Given the description of an element on the screen output the (x, y) to click on. 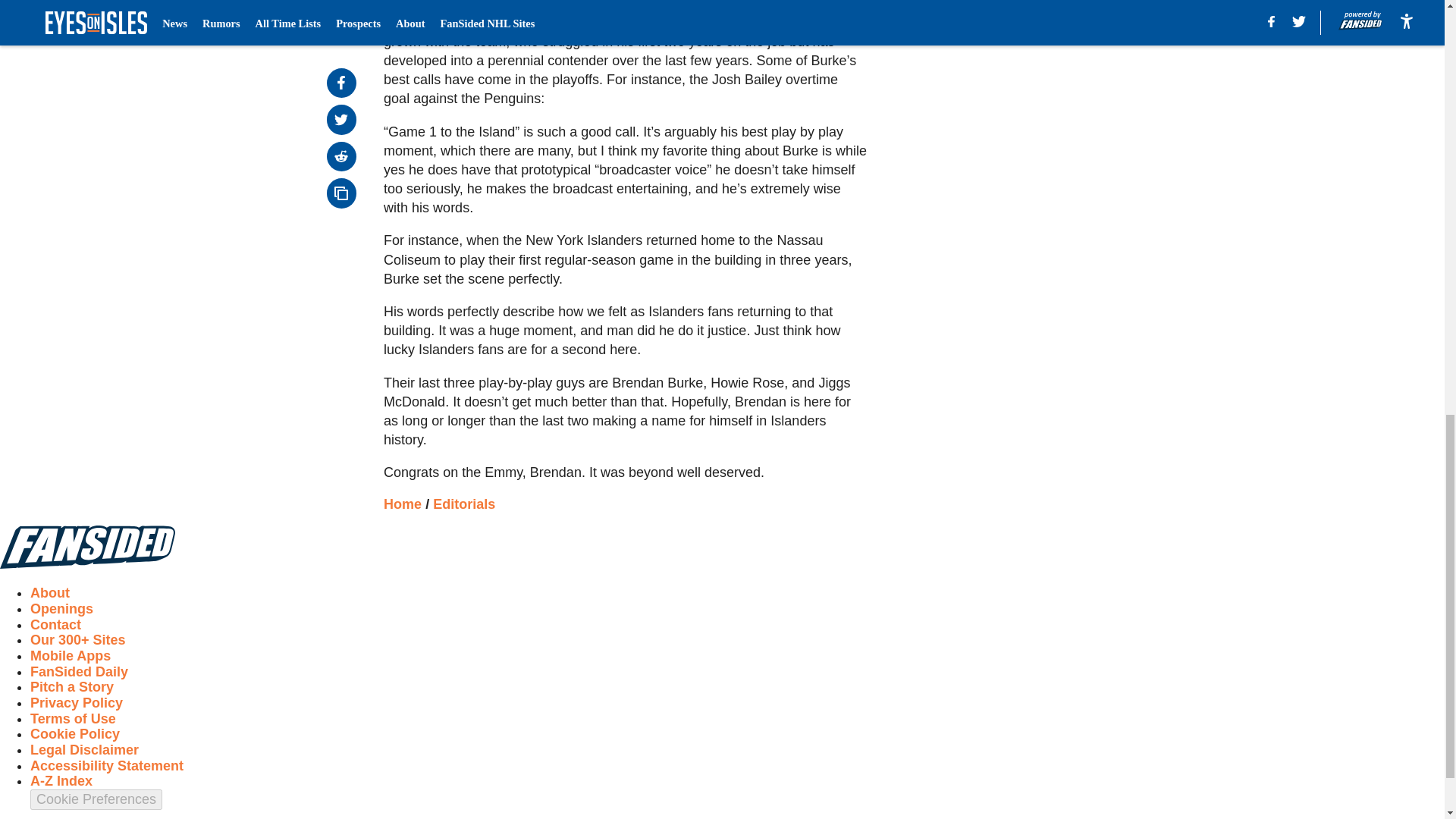
Privacy Policy (76, 702)
Mobile Apps (70, 655)
Editorials (463, 503)
Openings (61, 608)
Pitch a Story (71, 686)
Terms of Use (73, 718)
Contact (55, 624)
Legal Disclaimer (84, 749)
FanSided Daily (79, 671)
About (49, 592)
Home (403, 503)
Cookie Policy (74, 734)
